Given the description of an element on the screen output the (x, y) to click on. 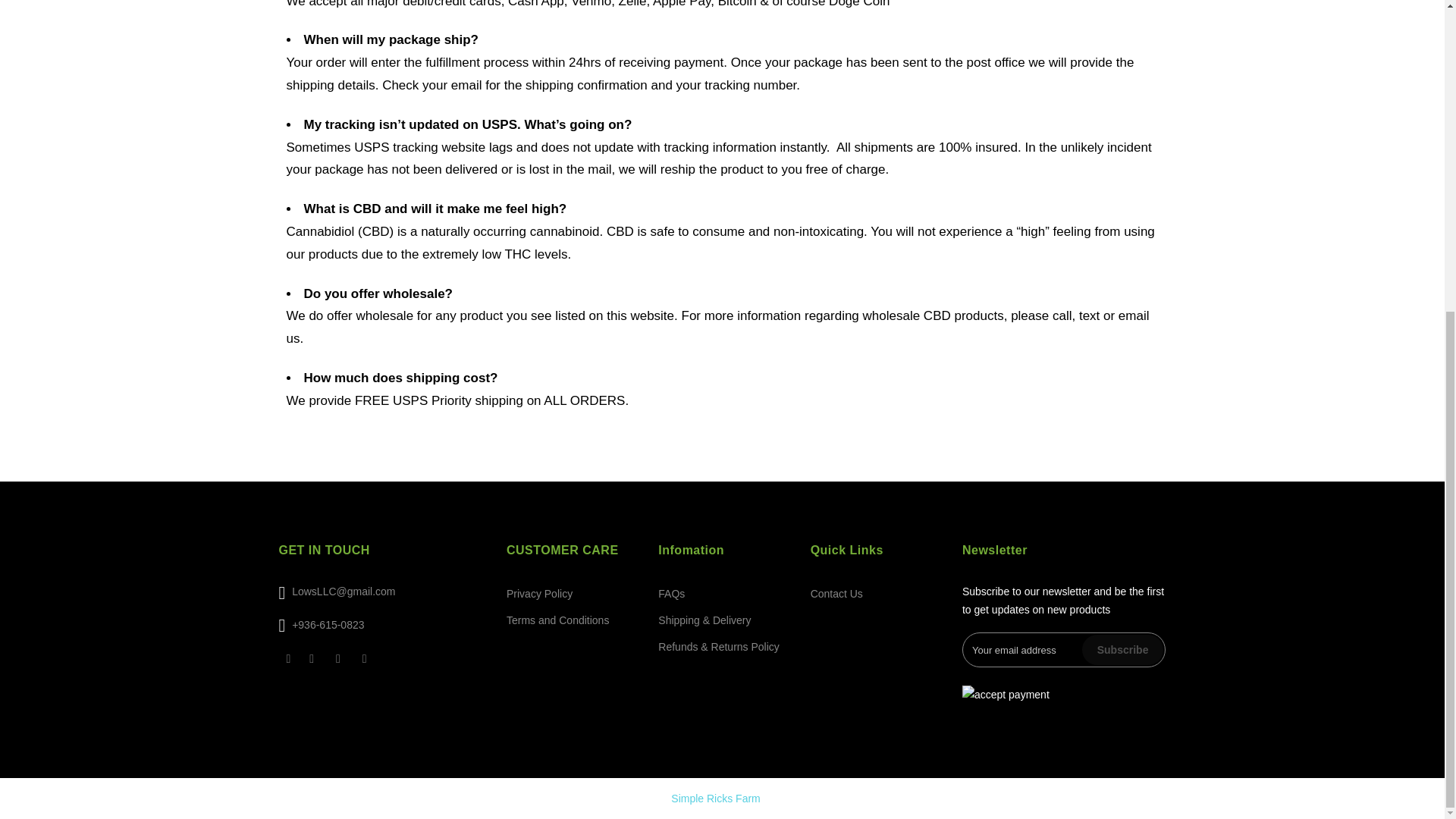
FAQs (671, 593)
Subscribe (1122, 649)
Subscribe (1122, 649)
Terms and Conditions (557, 620)
Privacy Policy (539, 593)
Contact Us (836, 593)
